Given the description of an element on the screen output the (x, y) to click on. 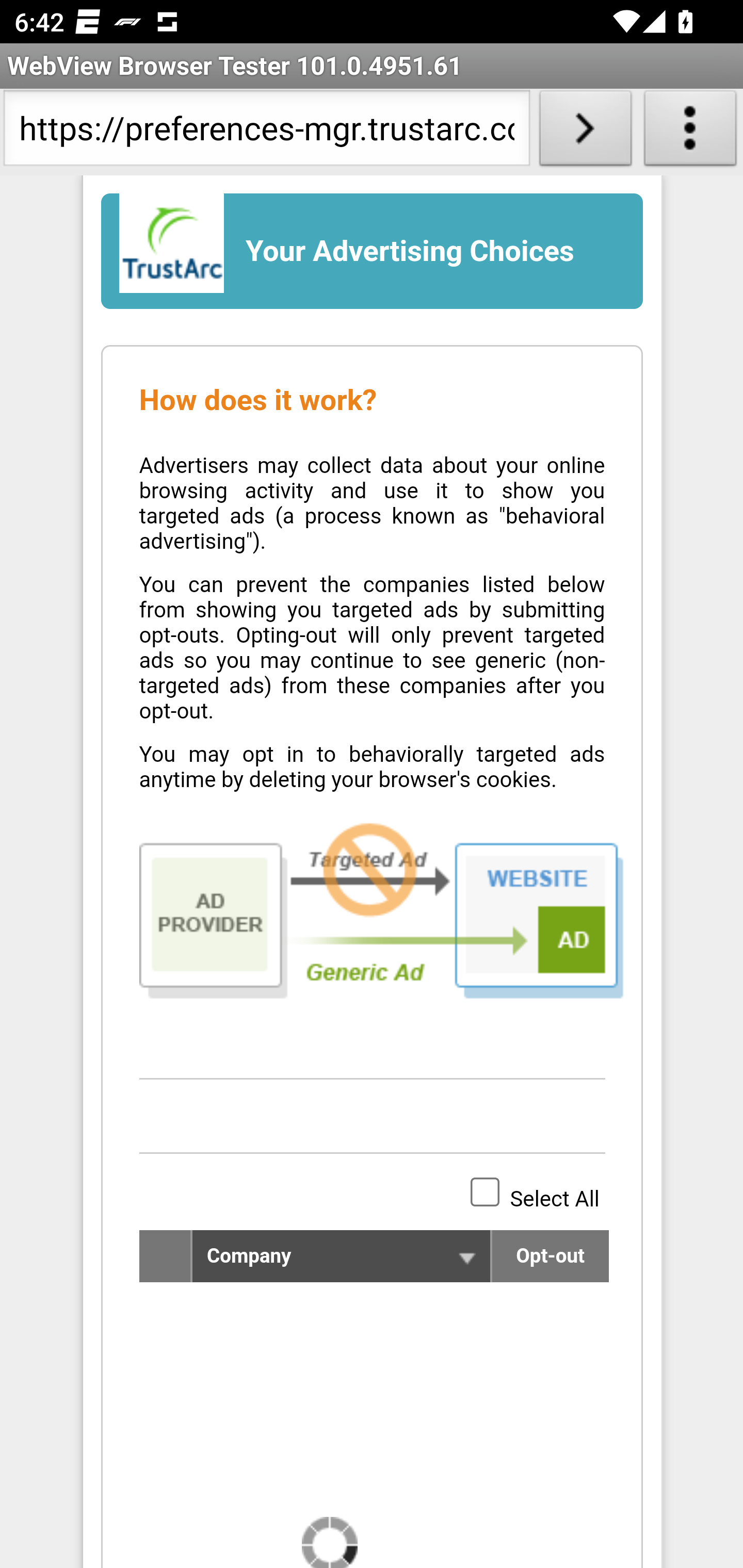
Load URL (585, 132)
About WebView (690, 132)
 Select All  (484, 1191)
Company list, sort alphabetically descending (466, 1259)
loading (328, 1542)
